Given the description of an element on the screen output the (x, y) to click on. 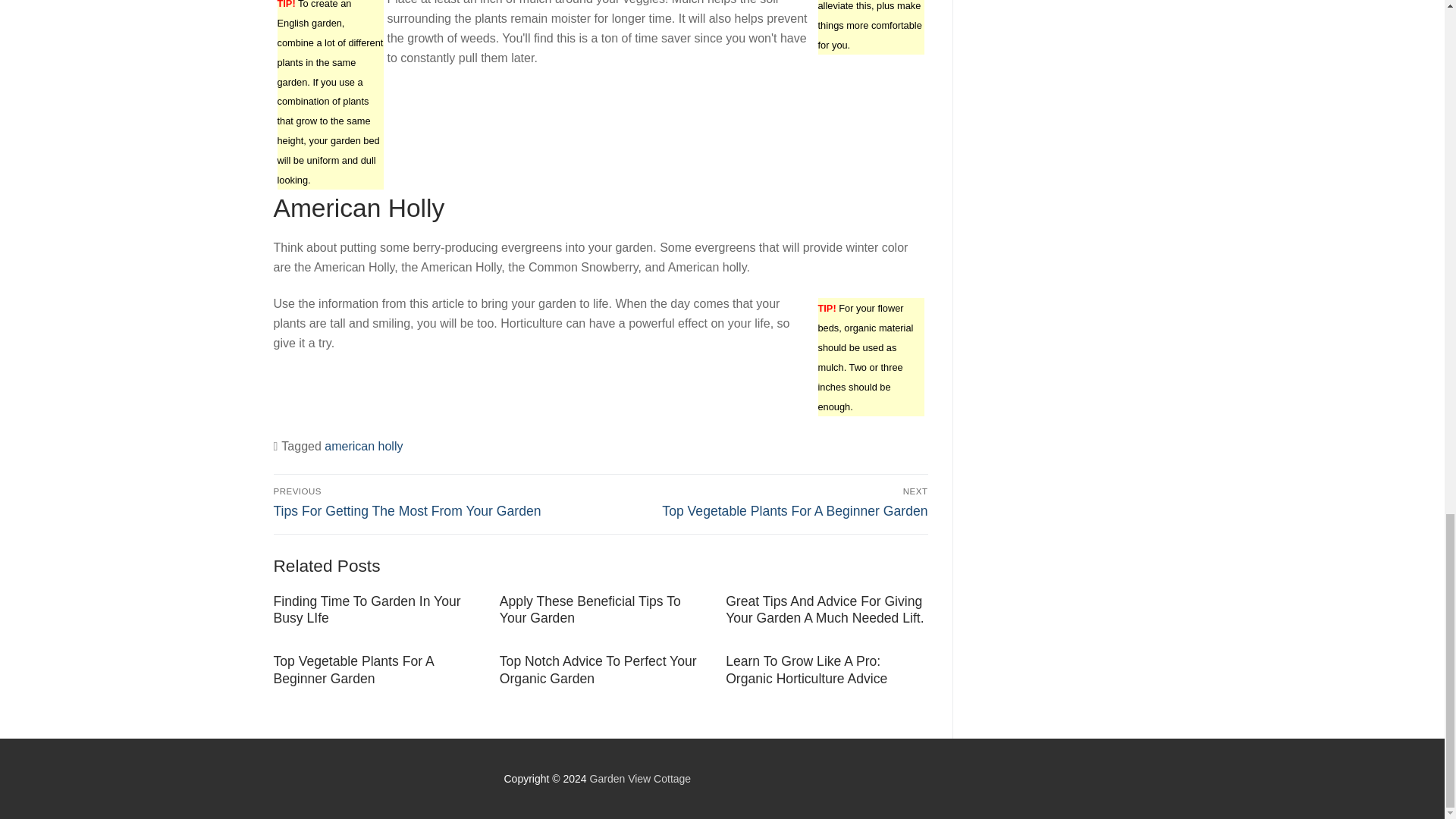
american holly (363, 445)
Top Notch Advice To Perfect Your Organic Garden (598, 669)
Apply These Beneficial Tips To Your Garden (590, 609)
Top Notch Advice To Perfect Your Organic Garden (598, 669)
Learn To Grow Like A Pro: Organic Horticulture Advice (805, 669)
Finding Time To Garden In Your Busy LIfe (366, 609)
Finding Time To Garden In Your Busy LIfe (366, 609)
Top Vegetable Plants For A Beginner Garden (767, 502)
Learn To Grow Like A Pro: Organic Horticulture Advice (352, 669)
Top Vegetable Plants For A Beginner Garden (805, 669)
Apply These Beneficial Tips To Your Garden (352, 669)
